Given the description of an element on the screen output the (x, y) to click on. 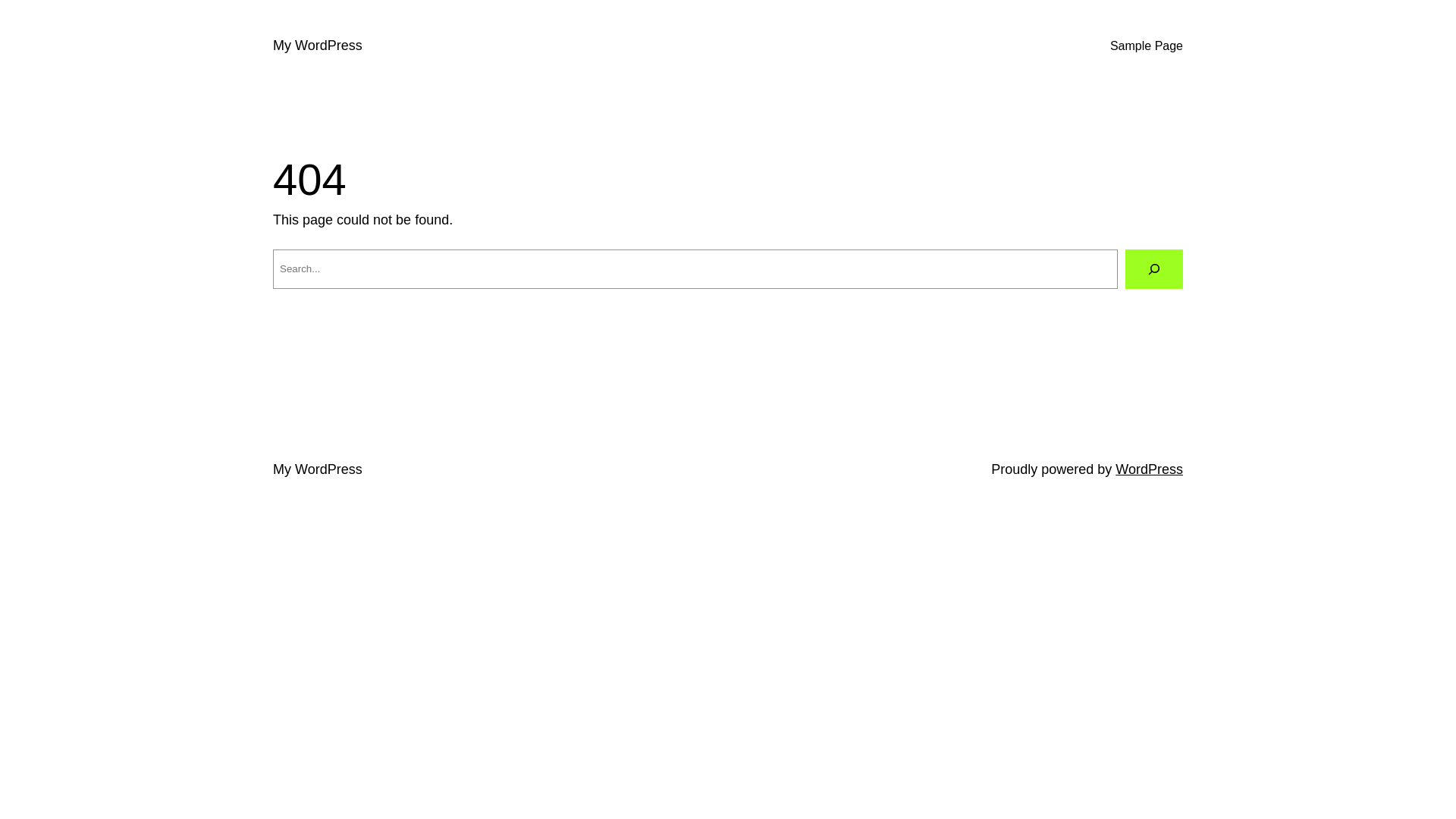
My WordPress Element type: text (317, 468)
My WordPress Element type: text (317, 45)
WordPress Element type: text (1149, 468)
Sample Page Element type: text (1146, 46)
